Given the description of an element on the screen output the (x, y) to click on. 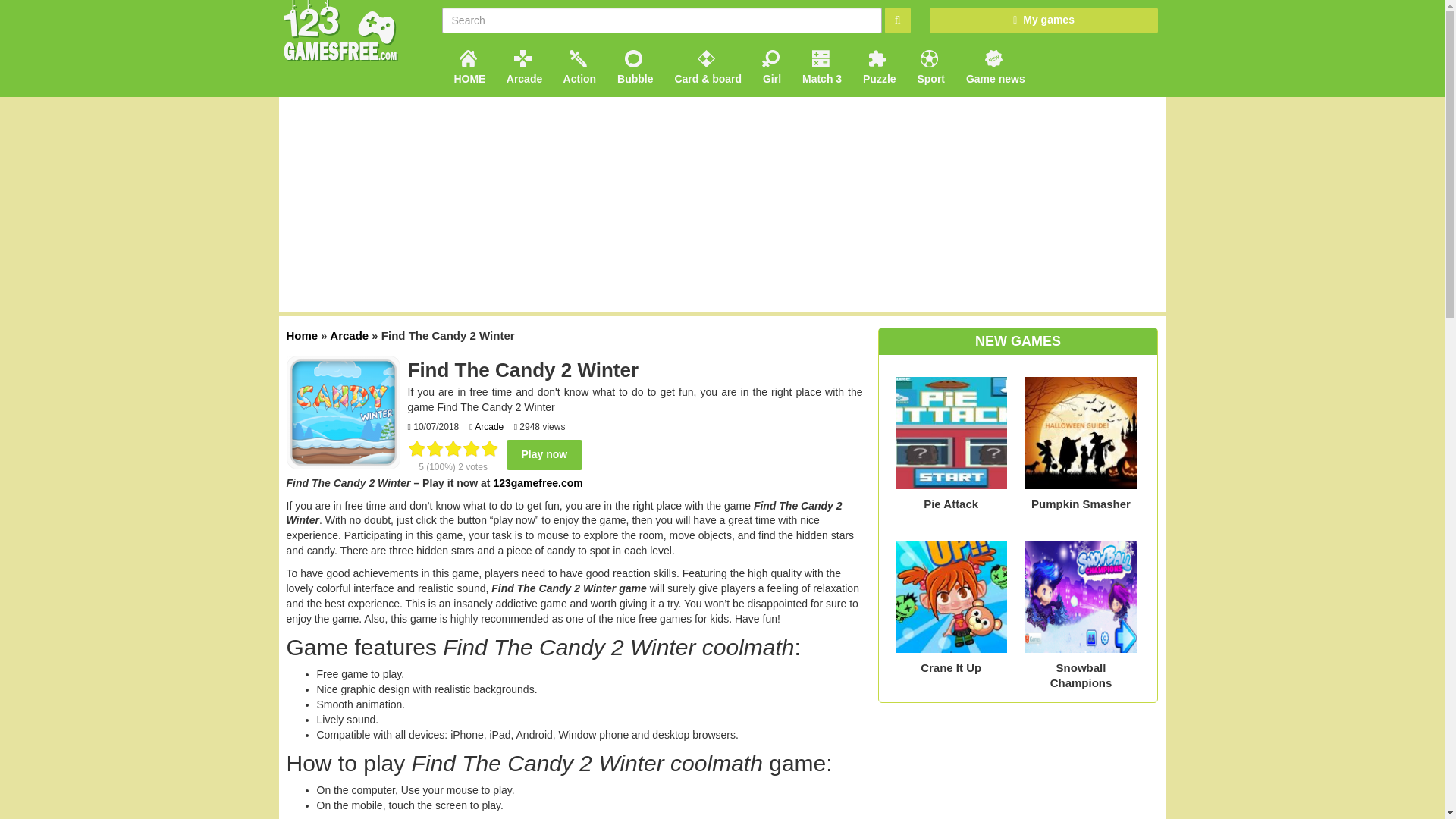
Play now (544, 454)
Game news (993, 65)
Find The Candy 2 Winter (343, 411)
My games (1043, 20)
Game Find The Candy 2 Winter (544, 454)
Arcade (349, 335)
Home (302, 335)
 Match 3 (820, 65)
 Bubble (633, 65)
Find The Candy 2 Winter (343, 412)
Arcade (488, 426)
Match 3 (820, 65)
123gamefree.com (537, 482)
 Arcade (523, 65)
Arcade (523, 65)
